Given the description of an element on the screen output the (x, y) to click on. 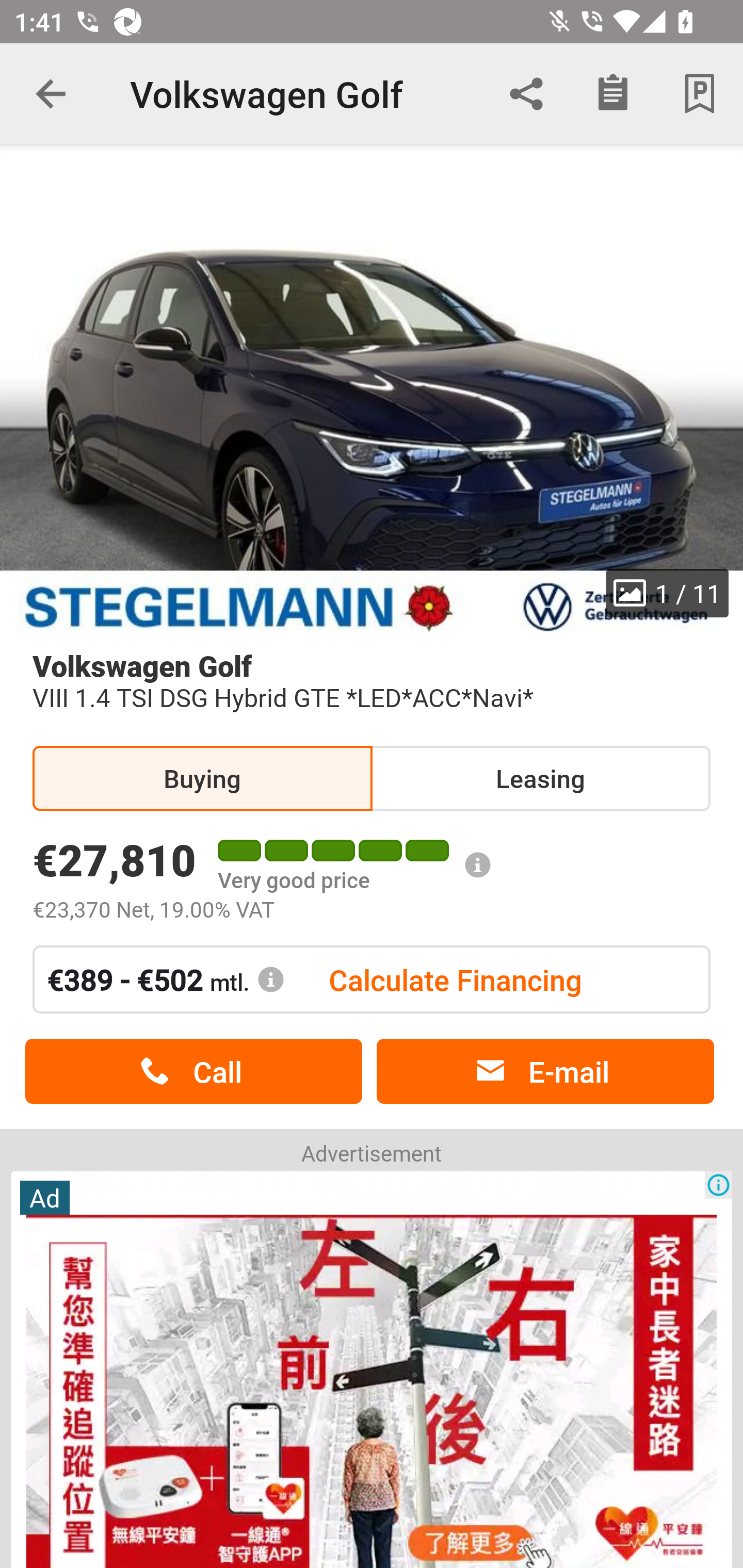
Navigate up (50, 93)
Share via (525, 93)
Checklist (612, 93)
Park (699, 93)
Buying (202, 778)
Leasing (540, 778)
Calculate Financing (454, 978)
€389 - €502 mtl. (165, 978)
Call (193, 1071)
E-mail (545, 1071)
Ad Ad Choices Icon (371, 1368)
Ad Choices Icon (718, 1184)
